Given the description of an element on the screen output the (x, y) to click on. 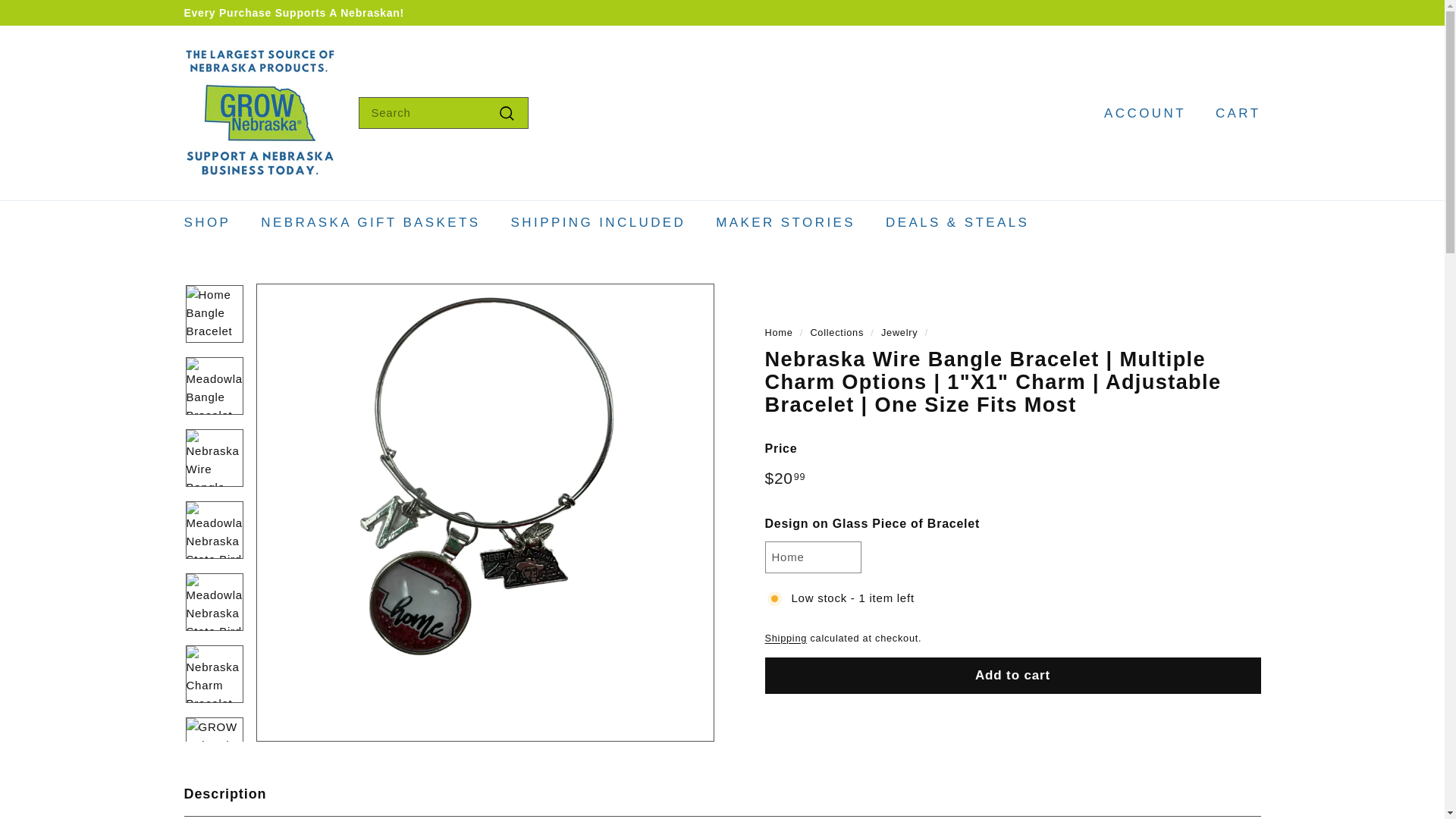
ACCOUNT (1139, 112)
BuyNebraska.com on Instagram (1210, 12)
Pinterest (1240, 12)
Back to the frontpage (778, 332)
Facebook (1218, 12)
BuyNebraska.com on TikTok (1248, 12)
YouTube (1226, 12)
Instagram (1210, 12)
BuyNebraska.com on Facebook (1218, 12)
Twitter (1233, 12)
BuyNebraska.com on Pinterest (1240, 12)
BuyNebraska.com on LinkedIn (1256, 12)
BuyNebraska.com on YouTube (1226, 12)
TikTok (1248, 12)
